Given the description of an element on the screen output the (x, y) to click on. 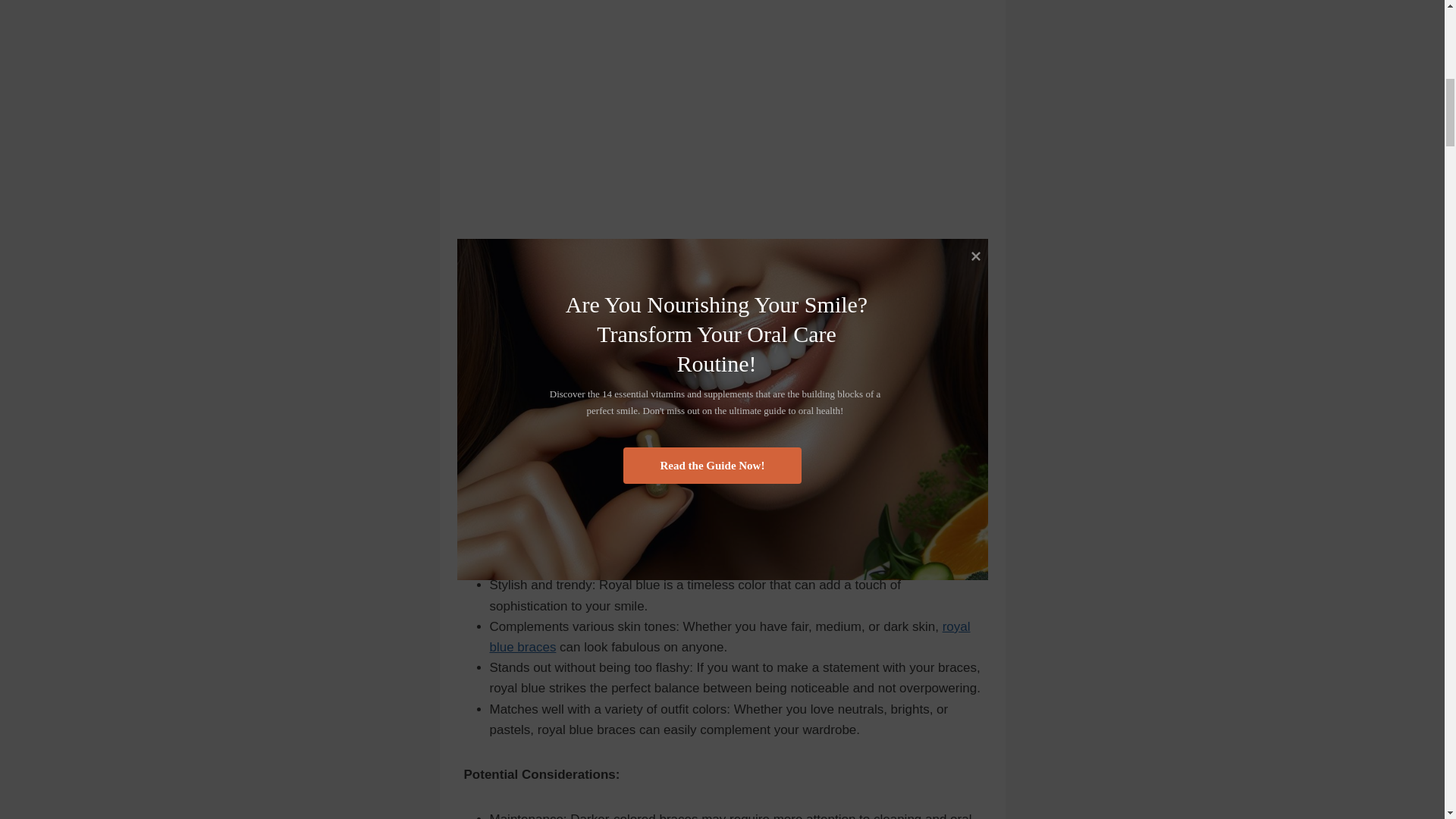
Correcting Overbites with Invisalign: A Friendly Solution (730, 636)
royal blue braces (730, 636)
